Given the description of an element on the screen output the (x, y) to click on. 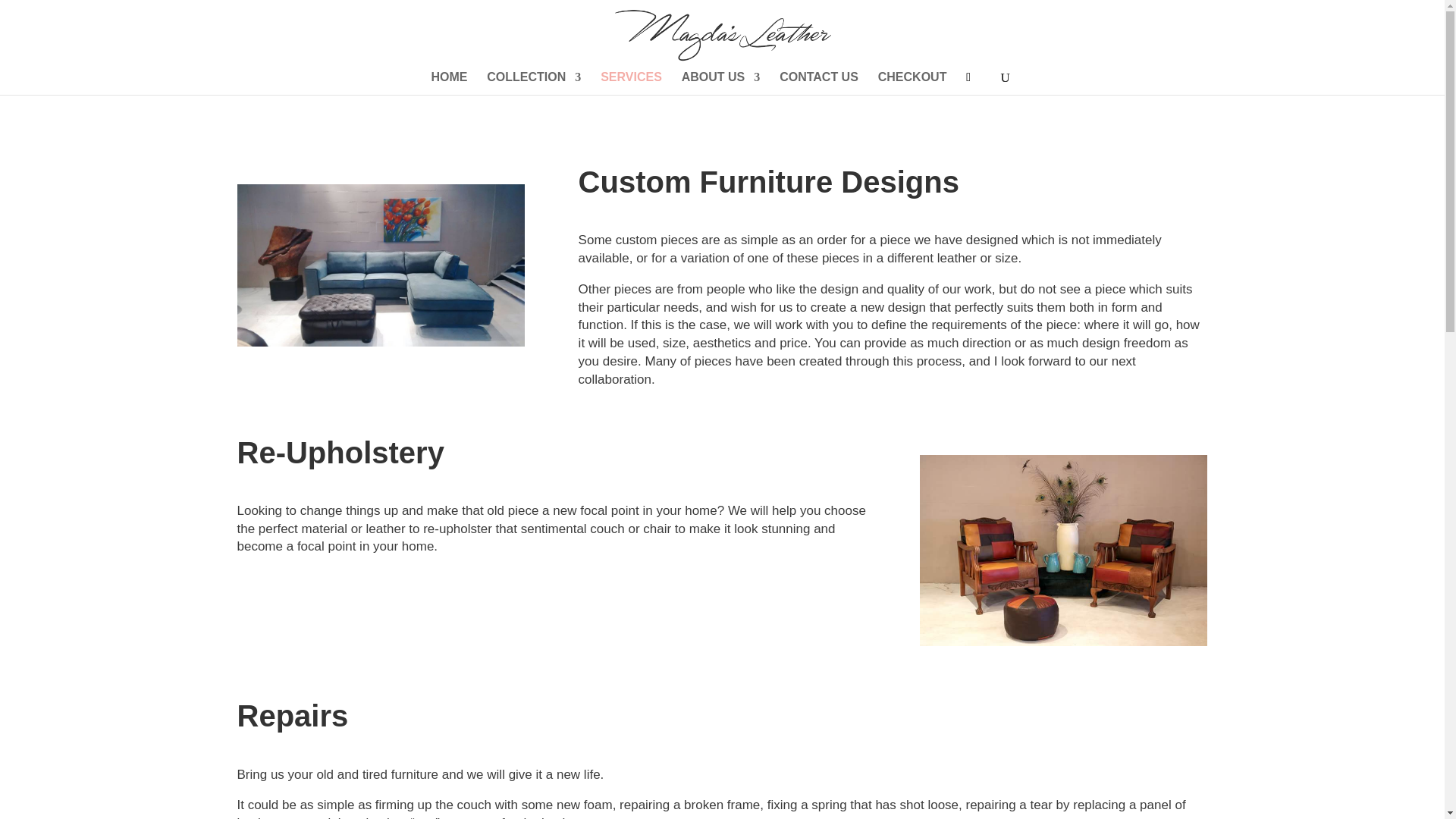
CONTACT US (818, 83)
CHECKOUT (912, 83)
COLLECTION (533, 83)
SERVICES (630, 83)
ABOUT US (720, 83)
HOME (448, 83)
